Given the description of an element on the screen output the (x, y) to click on. 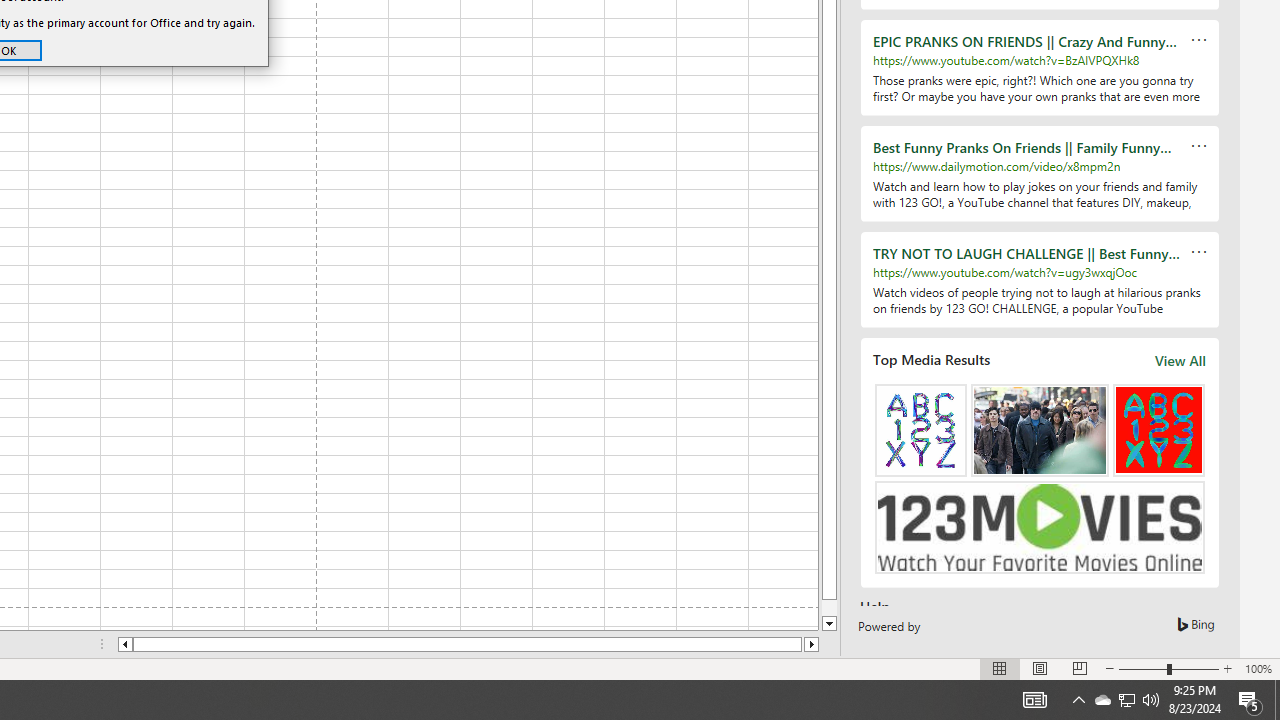
Action Center, 5 new notifications (1250, 699)
Q2790: 100% (1151, 699)
Notification Chevron (1078, 699)
Show desktop (1126, 699)
AutomationID: 4105 (1277, 699)
User Promoted Notification Area (1034, 699)
